Given the description of an element on the screen output the (x, y) to click on. 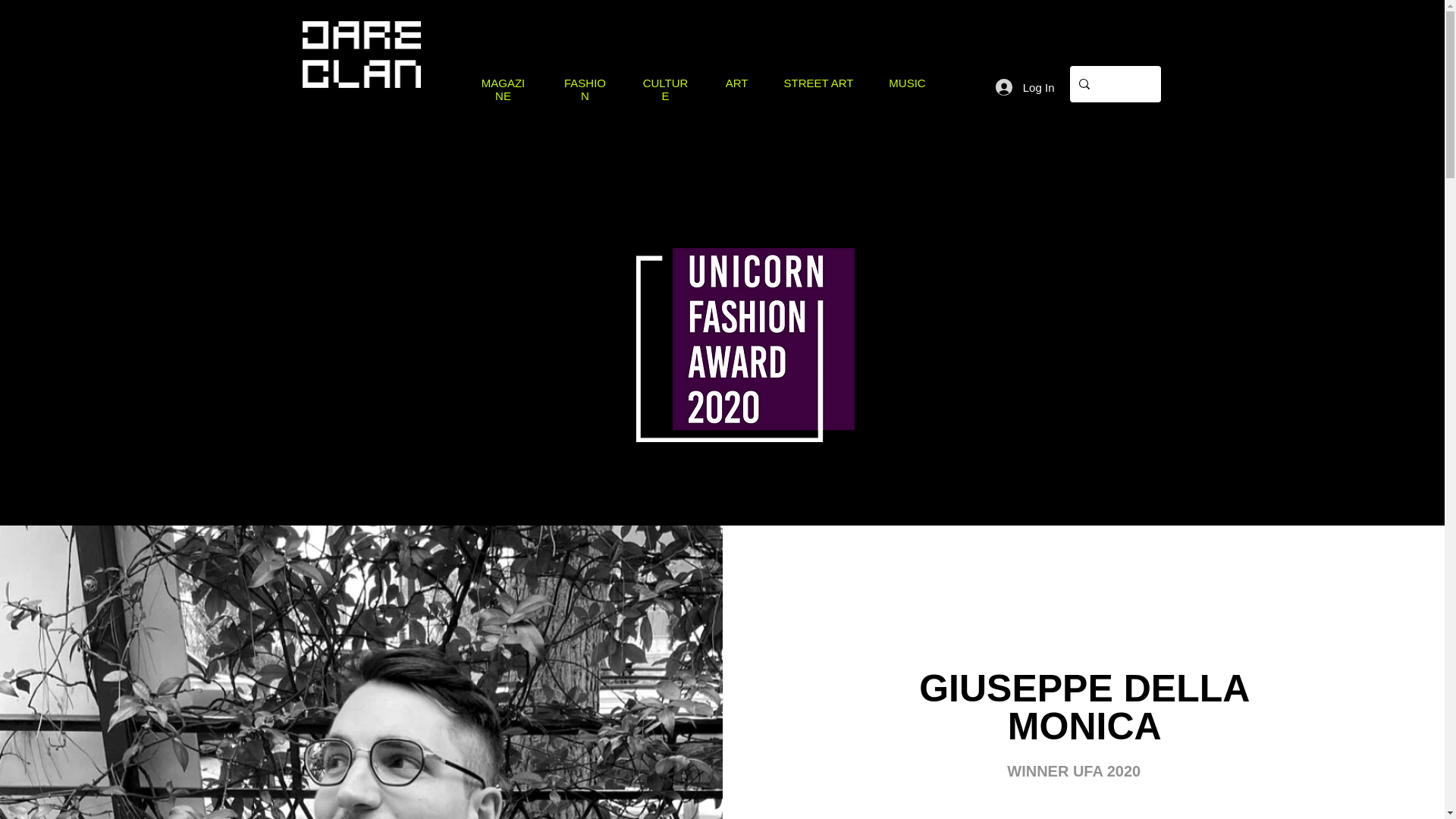
ART (736, 82)
Log In (1025, 86)
MAGAZINE (503, 89)
FASHION (584, 89)
CULTURE (665, 89)
MUSIC (906, 82)
STREET ART (818, 82)
